Given the description of an element on the screen output the (x, y) to click on. 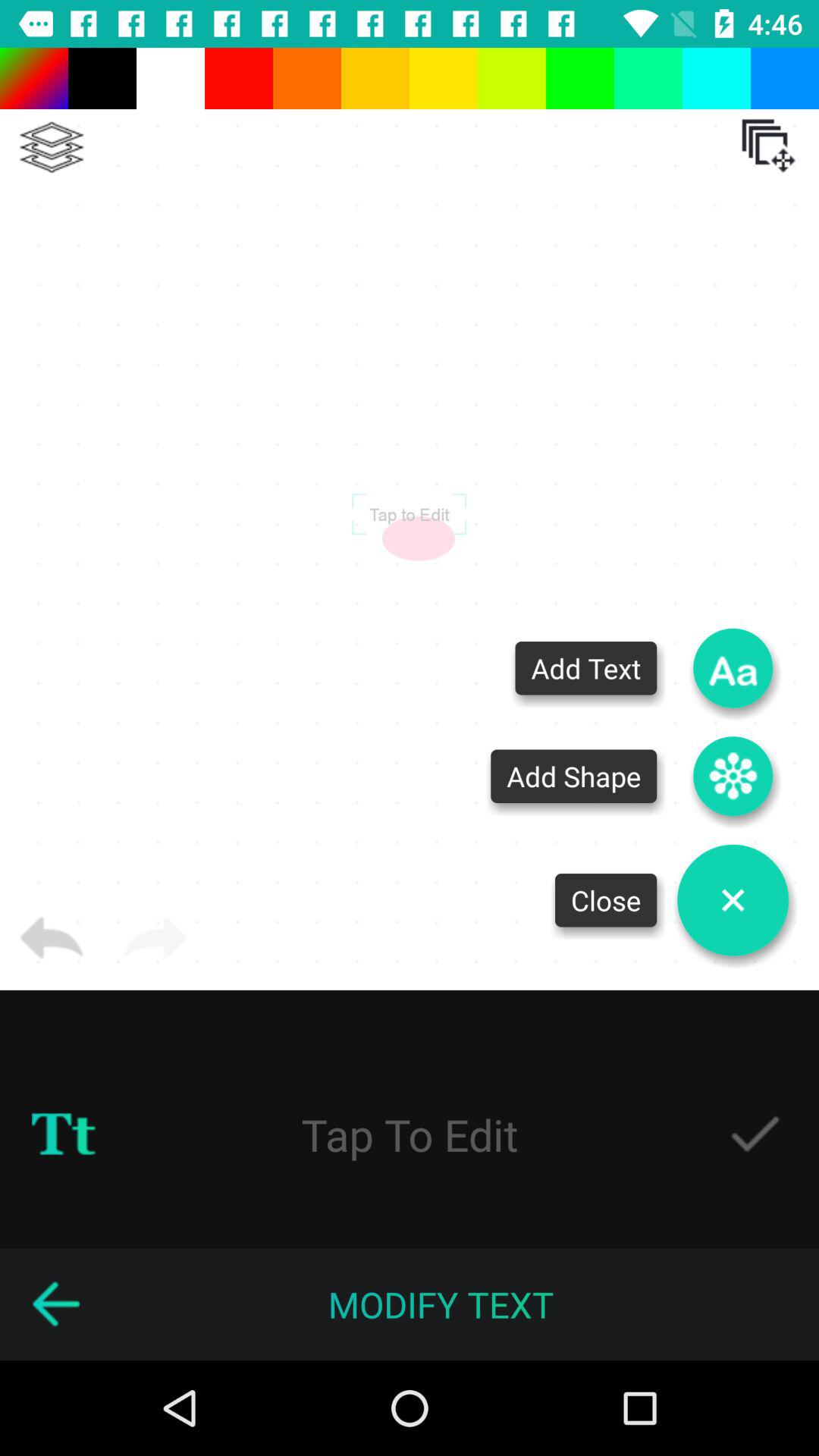
add shape to logo (733, 776)
